Given the description of an element on the screen output the (x, y) to click on. 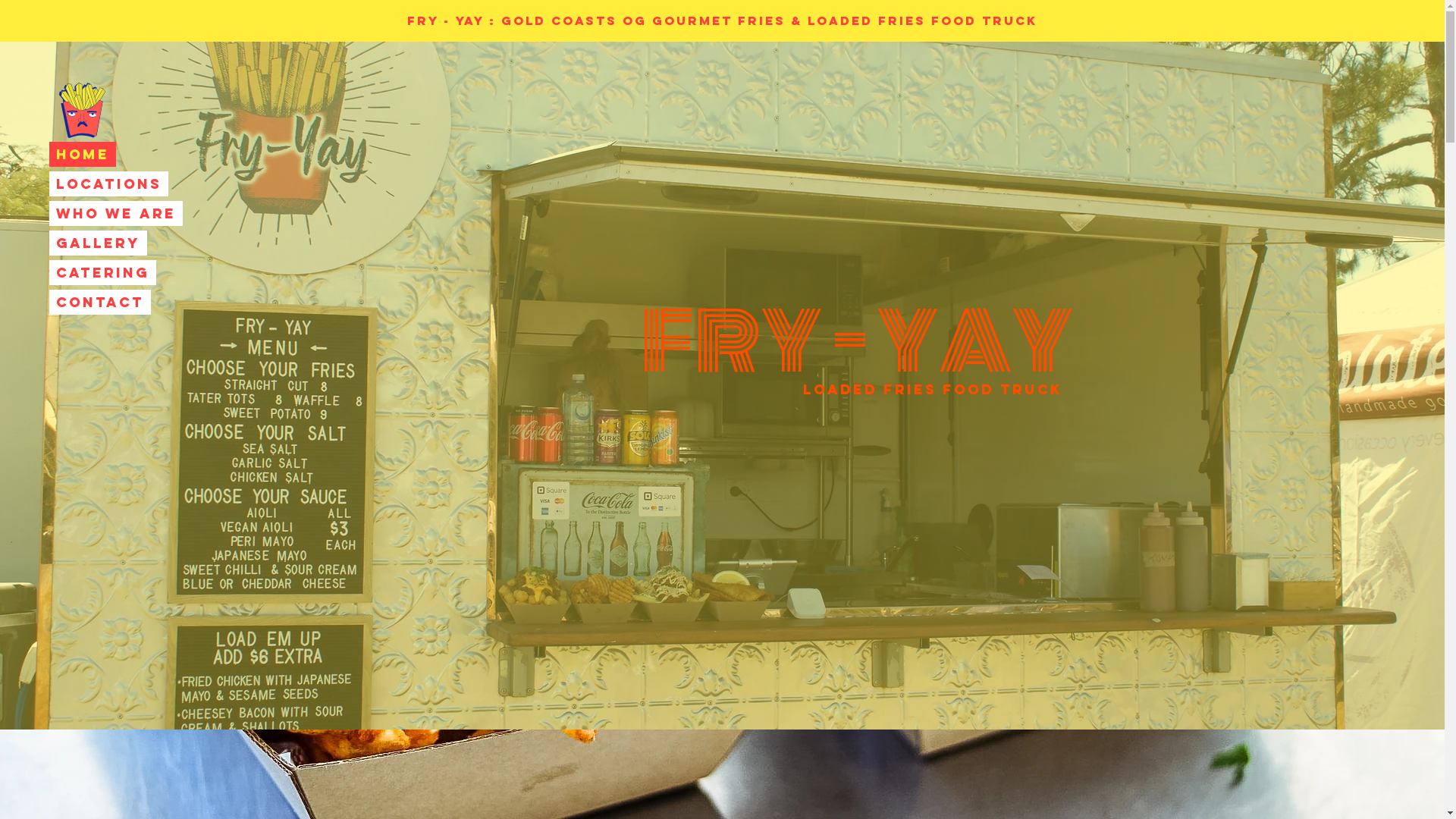
Who We Are Element type: text (115, 212)
Catering Element type: text (102, 272)
Home Element type: text (82, 153)
Locations Element type: text (108, 183)
Contact Element type: text (99, 301)
Gallery Element type: text (98, 242)
